Given the description of an element on the screen output the (x, y) to click on. 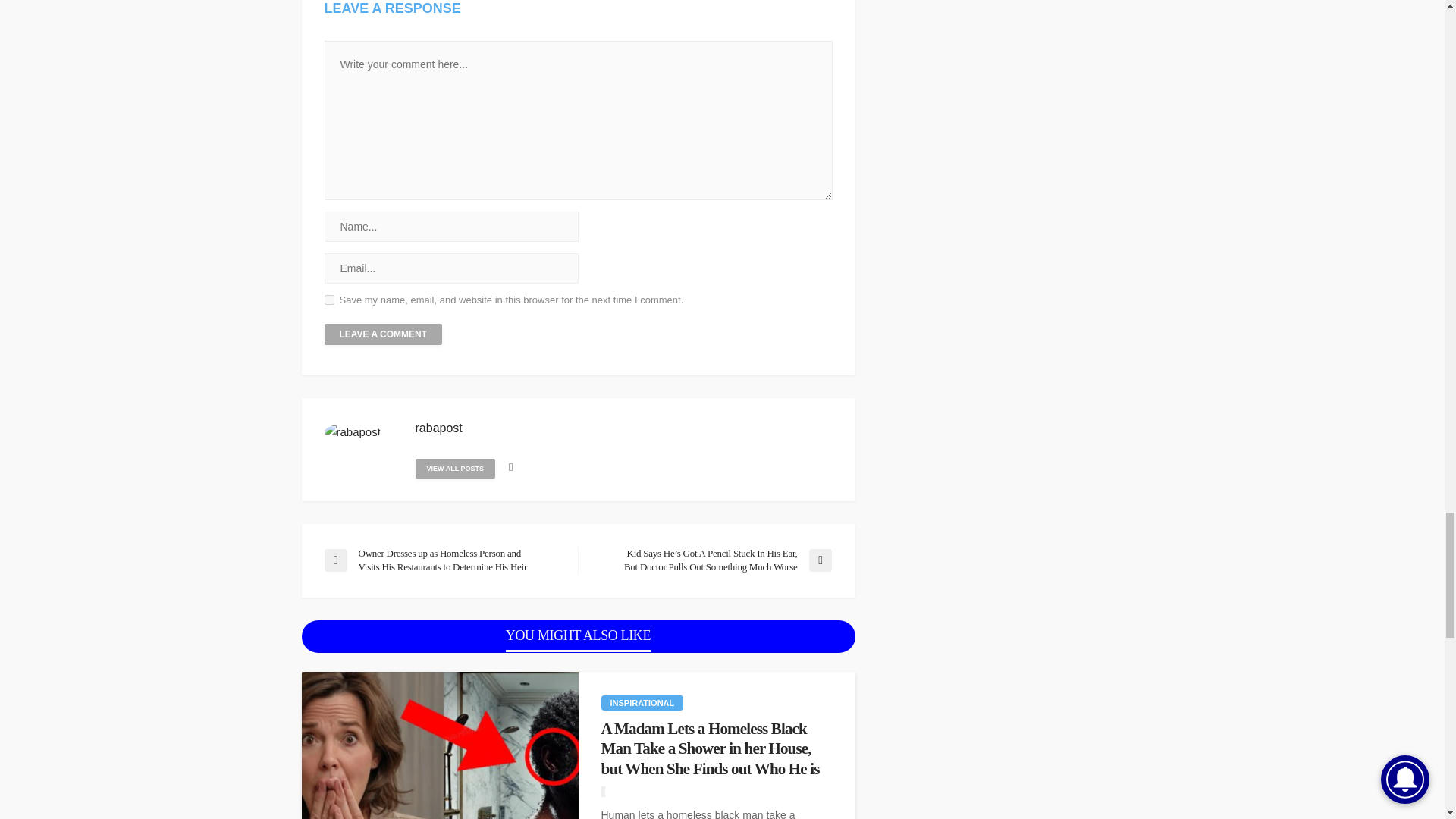
Leave a comment (383, 333)
yes (329, 299)
